Given the description of an element on the screen output the (x, y) to click on. 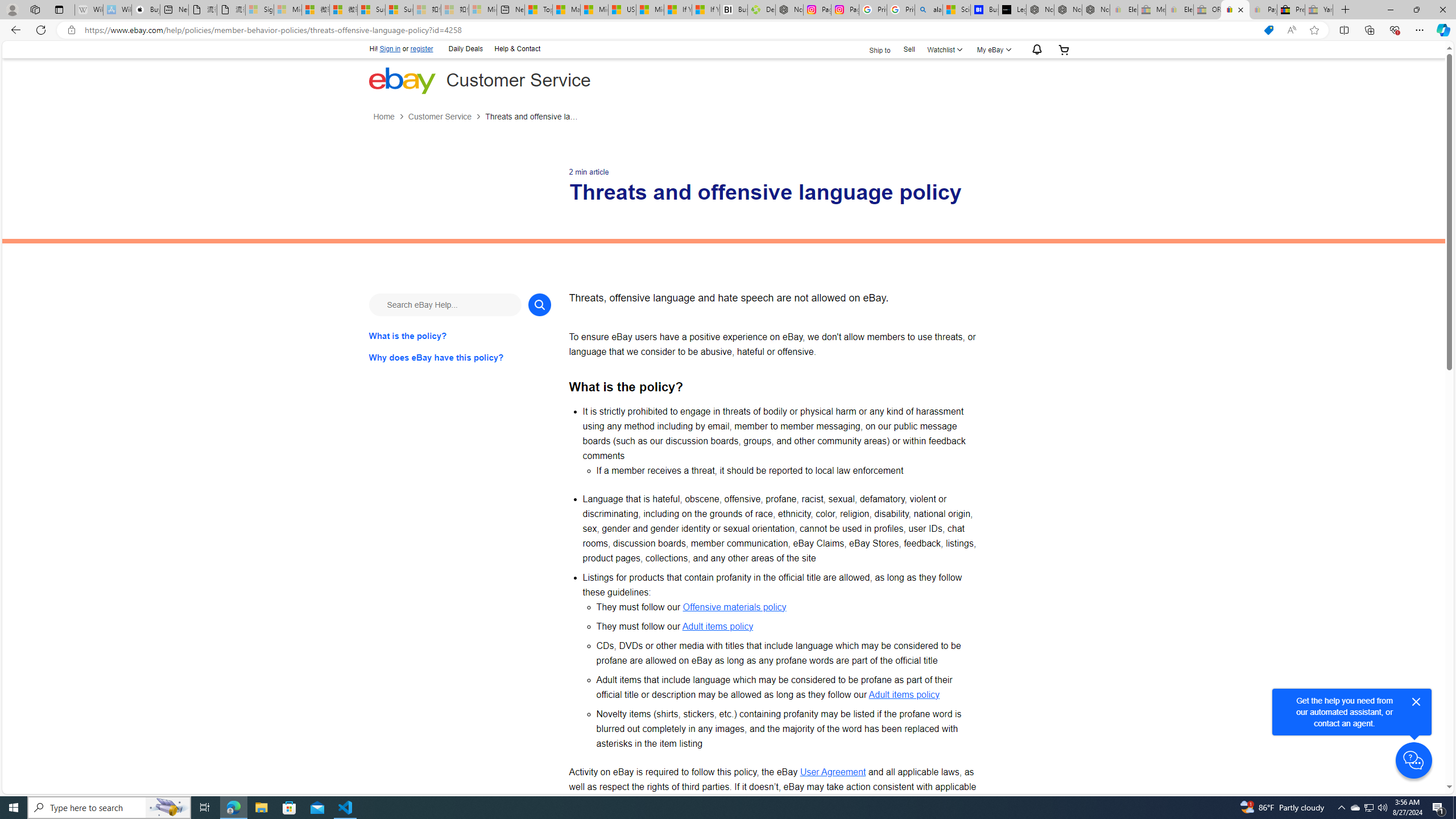
Customer Service (446, 117)
Search eBay Help... (444, 304)
